Given the description of an element on the screen output the (x, y) to click on. 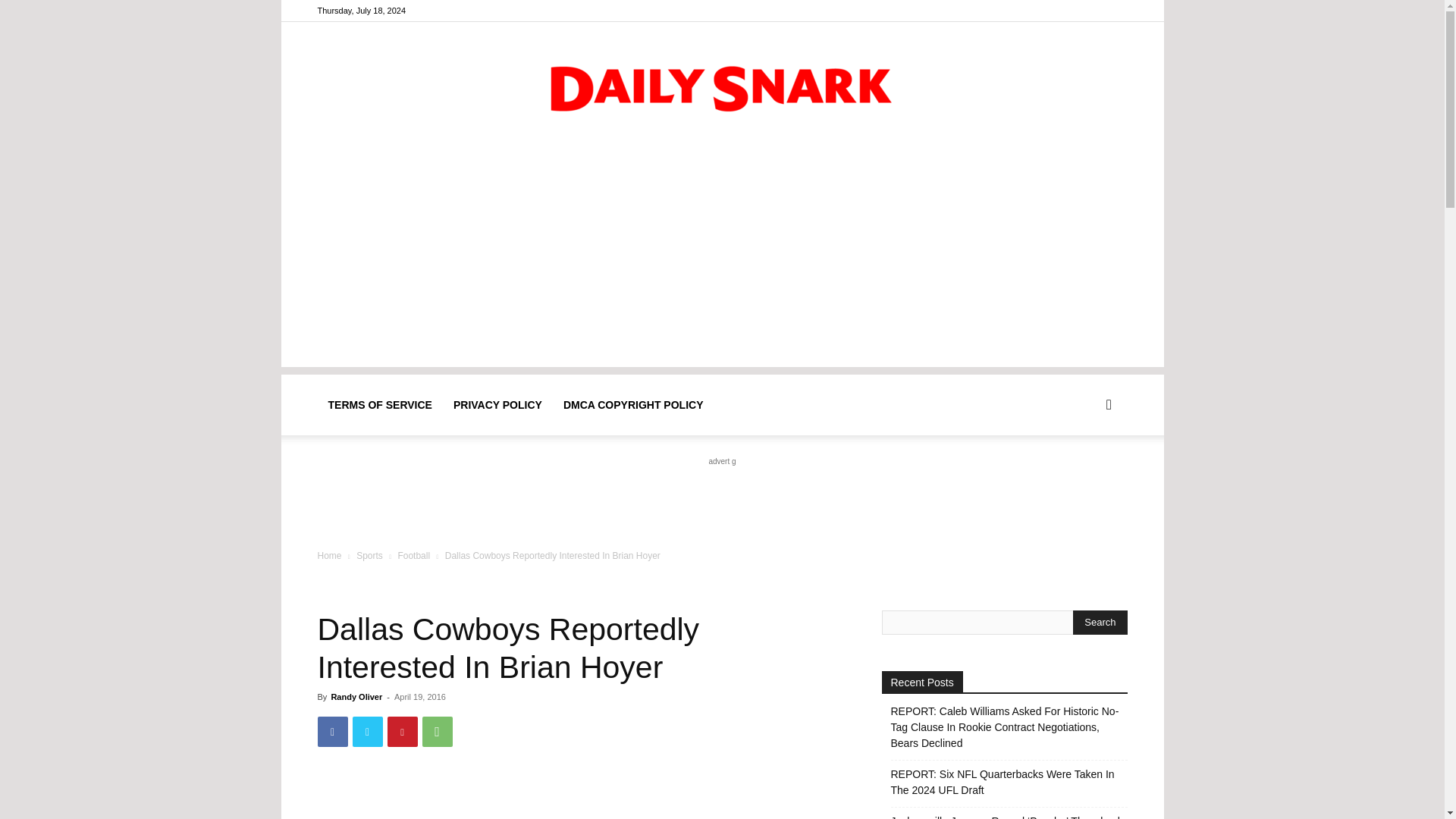
Search (1085, 477)
TERMS OF SERVICE (379, 404)
Daily Snark (721, 84)
Twitter (366, 731)
Randy Oliver (355, 696)
Home (328, 555)
View all posts in Sports (369, 555)
Facebook (332, 731)
Search (1099, 622)
Football (413, 555)
Pinterest (401, 731)
Sports (369, 555)
View all posts in Football (413, 555)
Facebook (1090, 10)
